Given the description of an element on the screen output the (x, y) to click on. 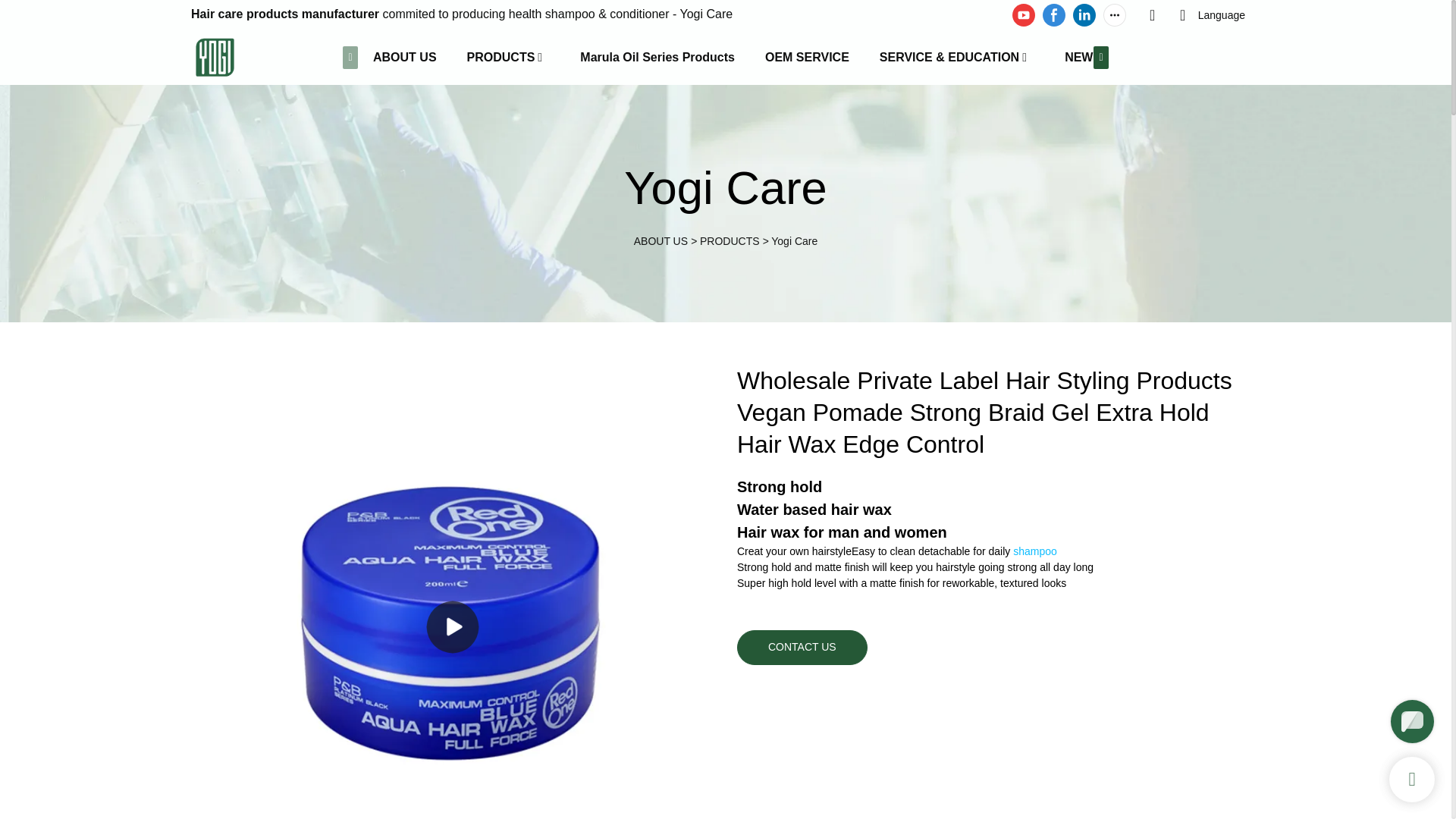
PRODUCTS (501, 57)
OEM SERVICE (806, 57)
linkedin (1083, 15)
shampoo (1035, 551)
Marula Oil Series Products (657, 57)
ABOUT US (404, 57)
facebook (1053, 15)
youtube (1024, 15)
